Given the description of an element on the screen output the (x, y) to click on. 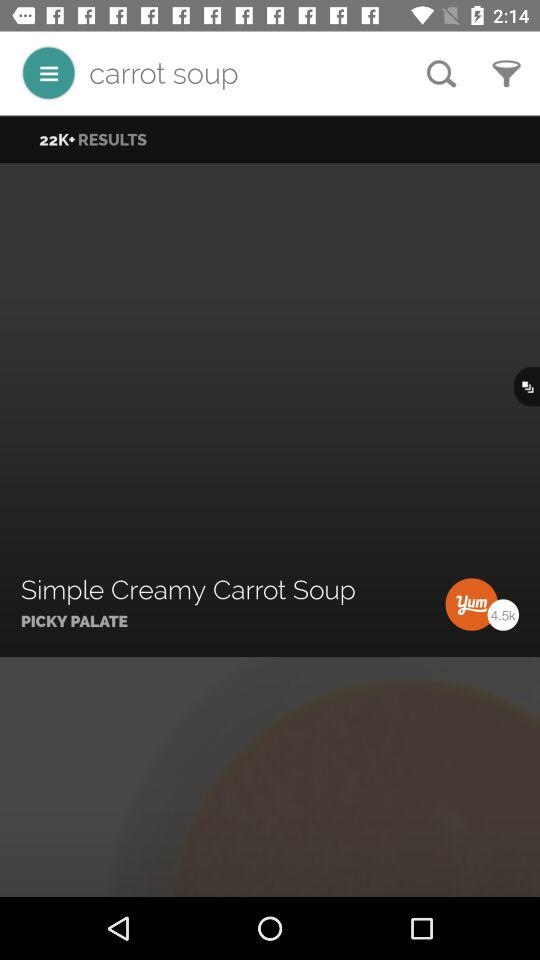
the menu bar (48, 72)
